Given the description of an element on the screen output the (x, y) to click on. 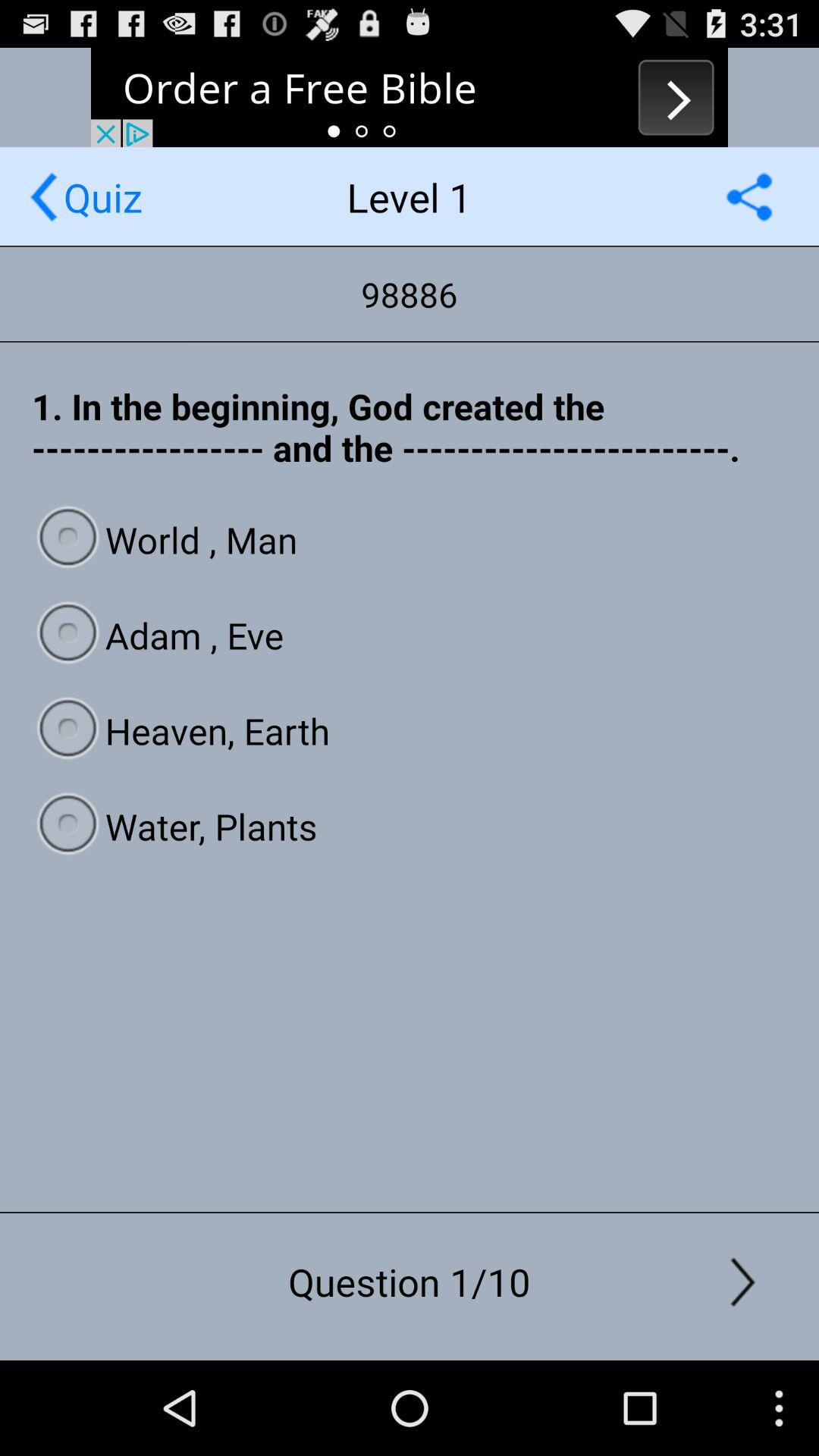
go to advertisement (409, 97)
